Given the description of an element on the screen output the (x, y) to click on. 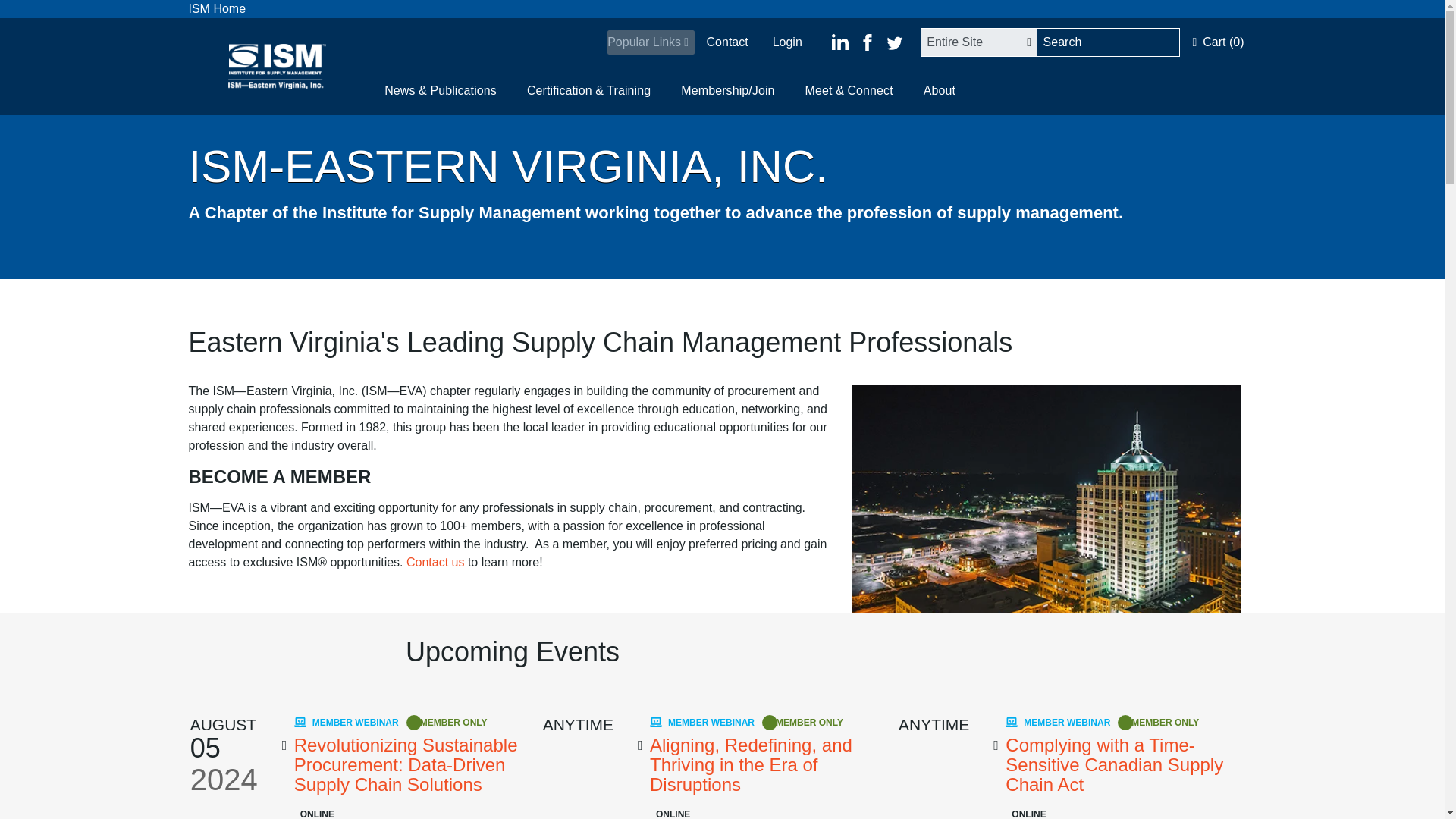
Popular Links (650, 42)
ISM Home (216, 9)
Contact (721, 42)
Login (781, 42)
